Given the description of an element on the screen output the (x, y) to click on. 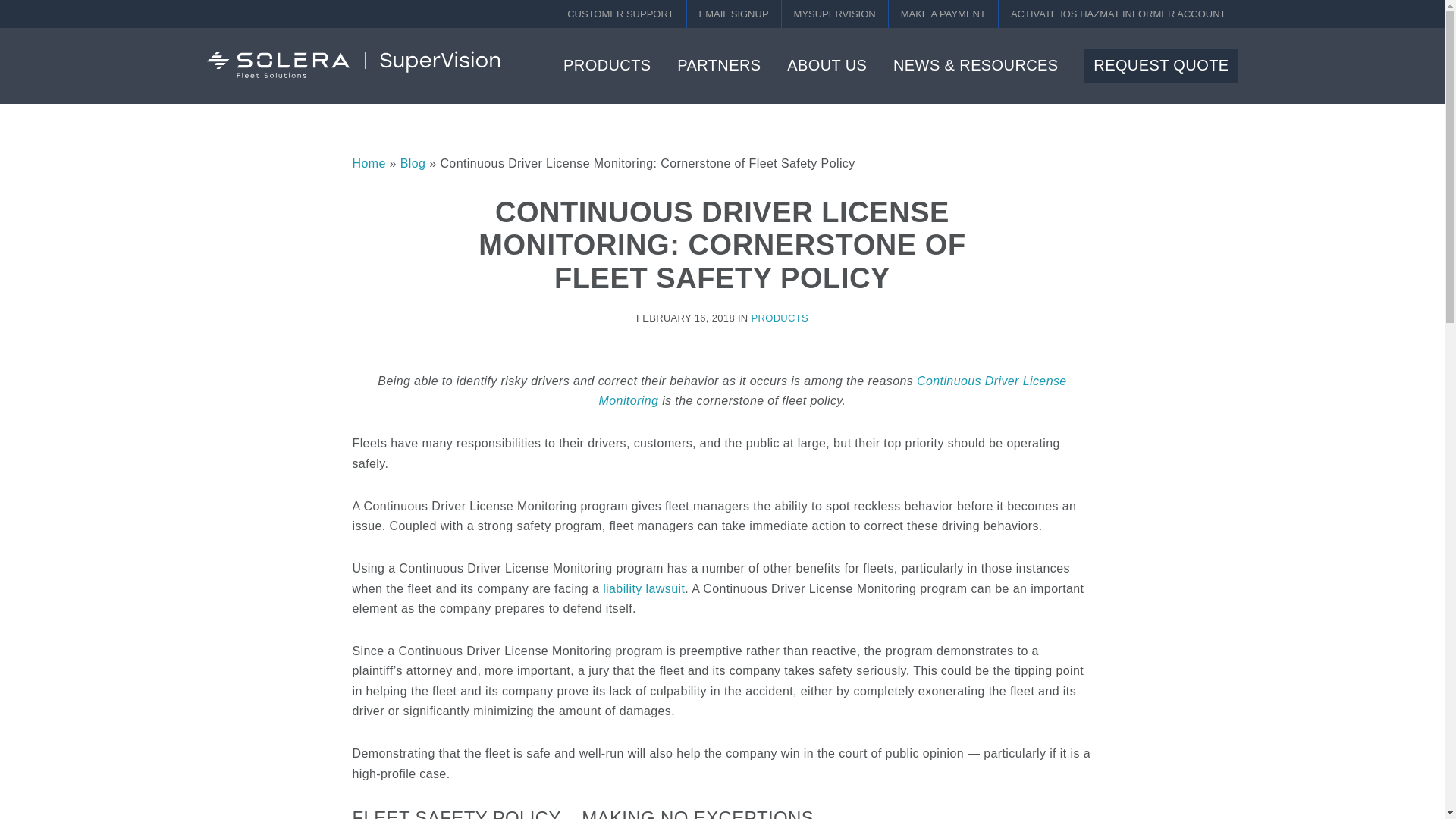
Blog (413, 163)
PRODUCTS (606, 64)
Home (368, 163)
MAKE A PAYMENT (942, 13)
ACTIVATE IOS HAZMAT INFORMER ACCOUNT (1118, 13)
PRODUCTS (779, 317)
EMAIL SIGNUP (733, 13)
CUSTOMER SUPPORT (619, 13)
Continuous Driver License Monitoring (832, 390)
MYSUPERVISION (834, 13)
PARTNERS (718, 64)
REQUEST QUOTE (1160, 65)
ABOUT US (826, 64)
liability lawsuit (643, 588)
